Given the description of an element on the screen output the (x, y) to click on. 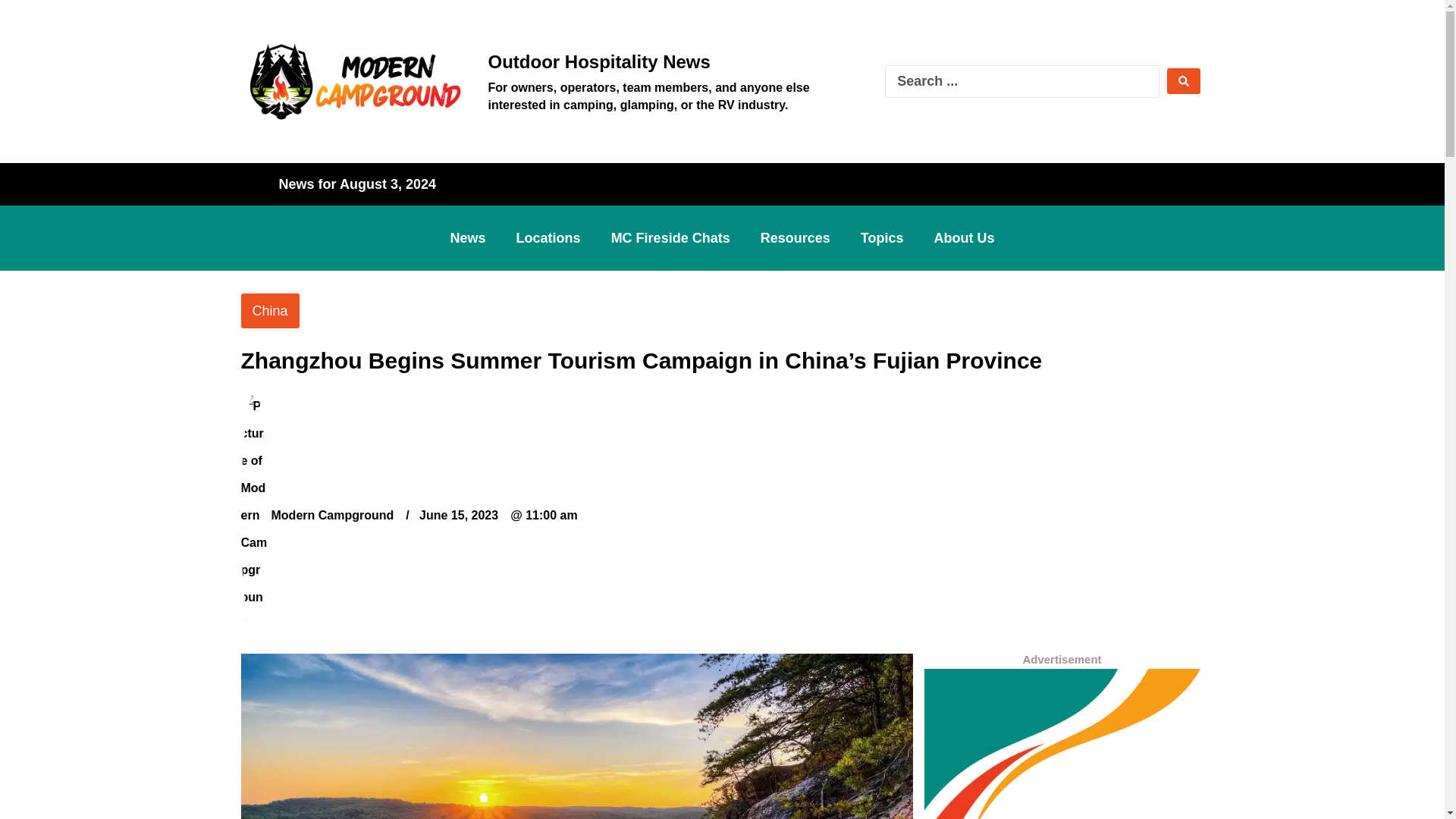
Resources (795, 237)
Locations (547, 237)
News (467, 237)
MC Fireside Chats (670, 237)
